Given the description of an element on the screen output the (x, y) to click on. 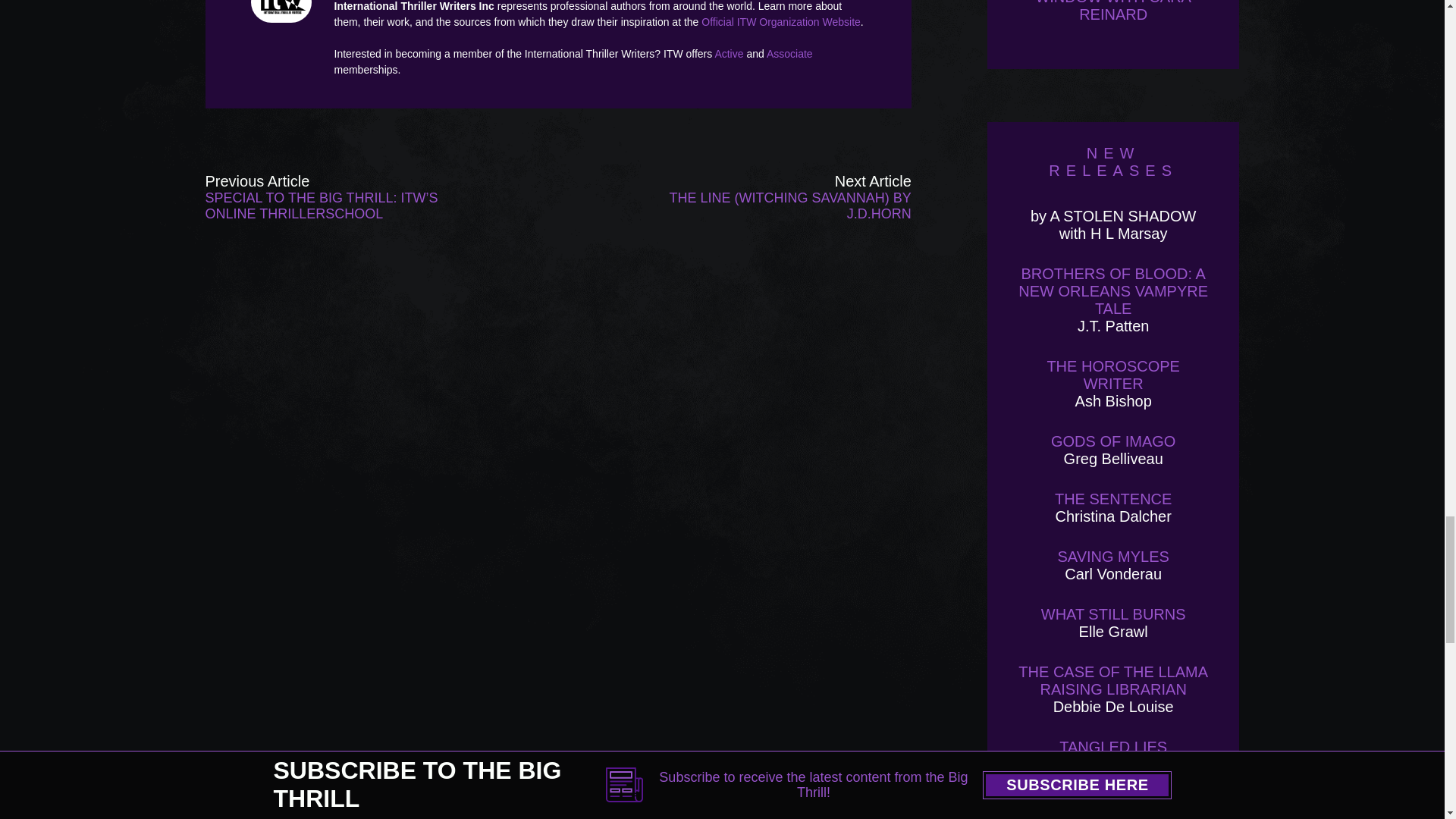
ITW (284, 11)
